Given the description of an element on the screen output the (x, y) to click on. 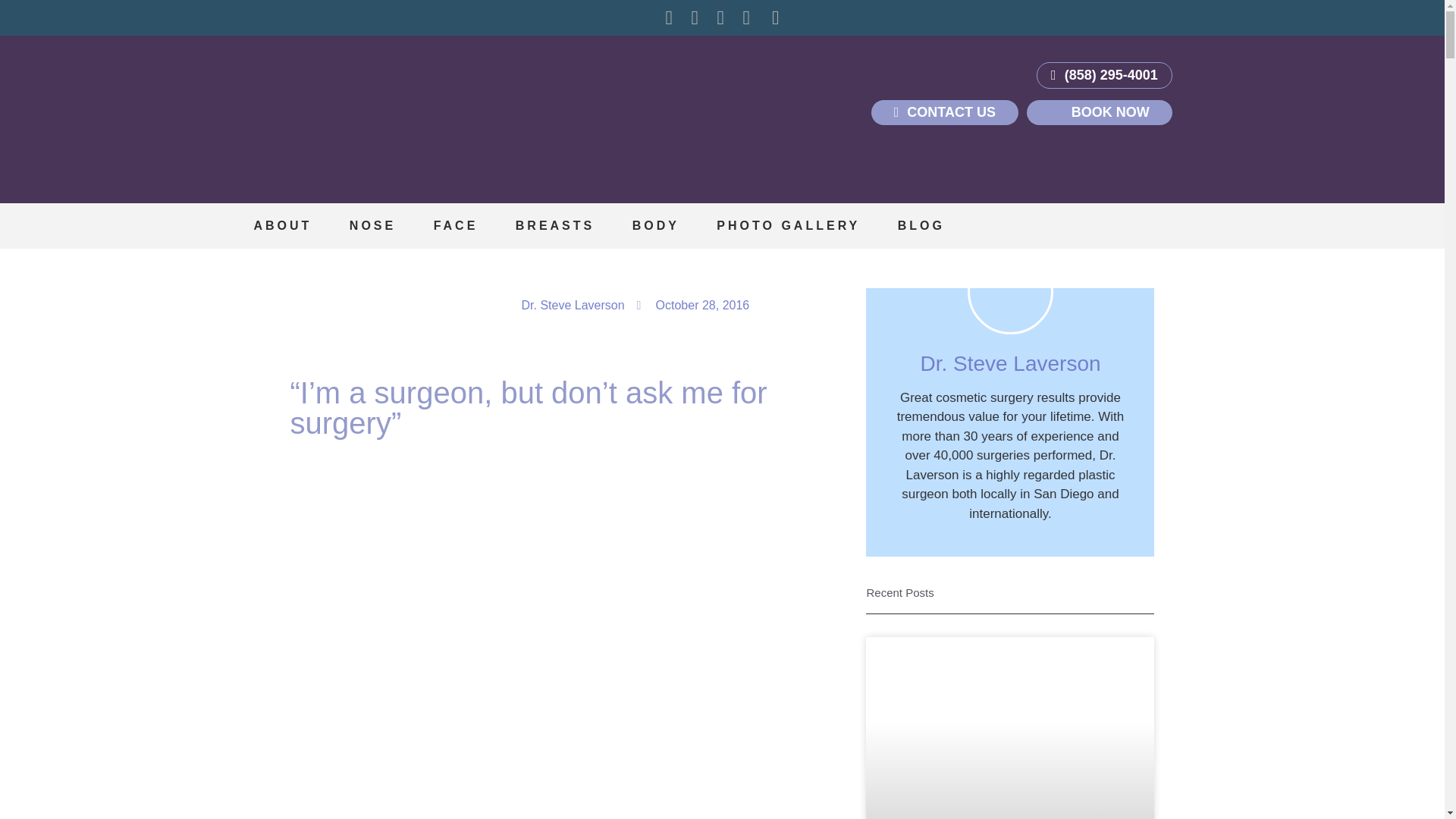
CONTACT US (943, 112)
BOOK NOW (1099, 112)
ABOUT (282, 225)
NOSE (372, 225)
FACE (455, 225)
